Given the description of an element on the screen output the (x, y) to click on. 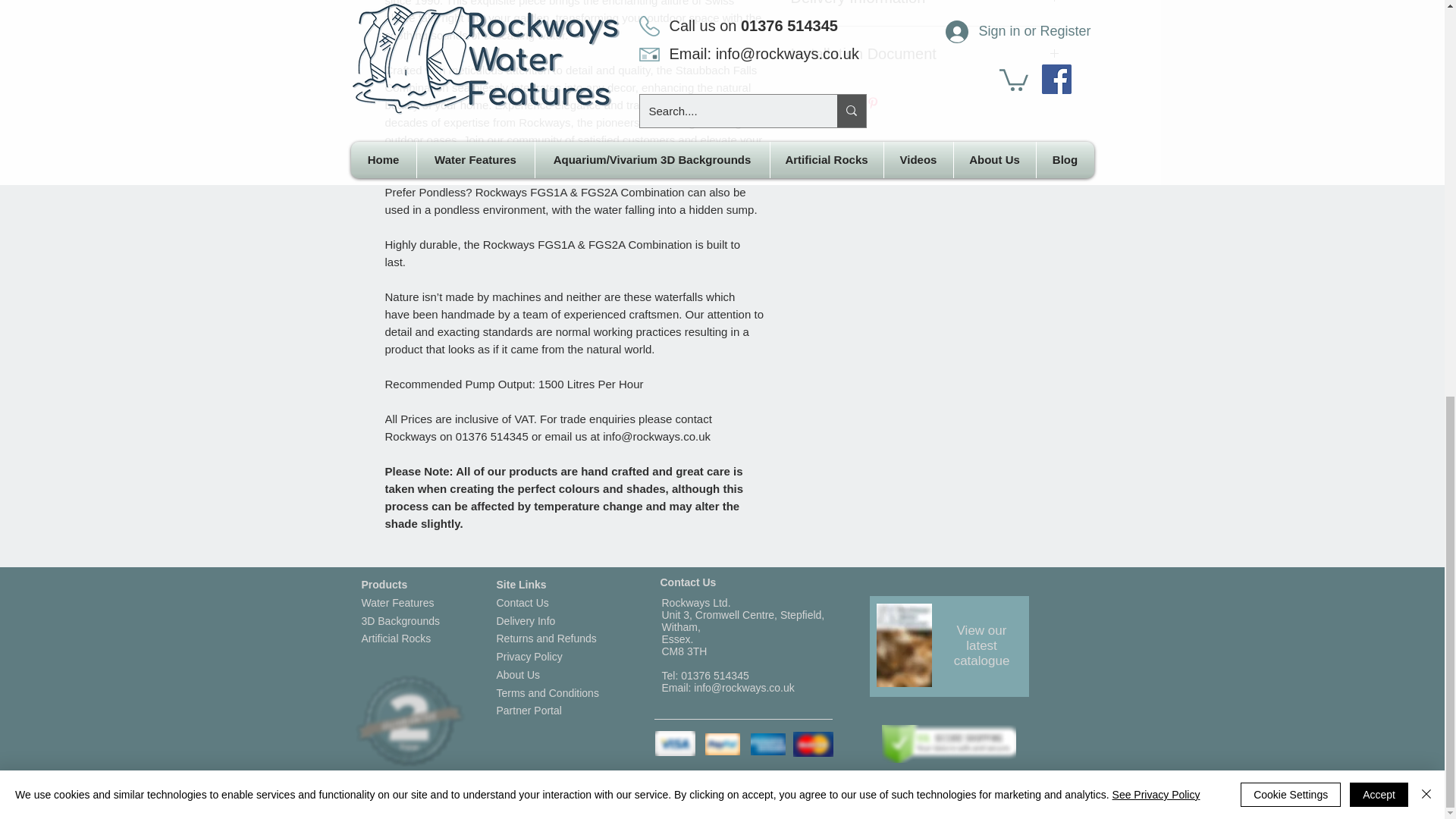
3D Backgrounds (400, 620)
Water Features (397, 603)
Terms and Conditions (547, 693)
Delivery Info (525, 620)
About Us (518, 674)
Contact Us (522, 603)
Delivery Information (924, 3)
Partner Portal (528, 710)
2 Year Guarantee (407, 720)
Privacy Policy (529, 656)
Installation Document (924, 54)
Artificial Rocks (395, 638)
Returns and Refunds (545, 638)
